Given the description of an element on the screen output the (x, y) to click on. 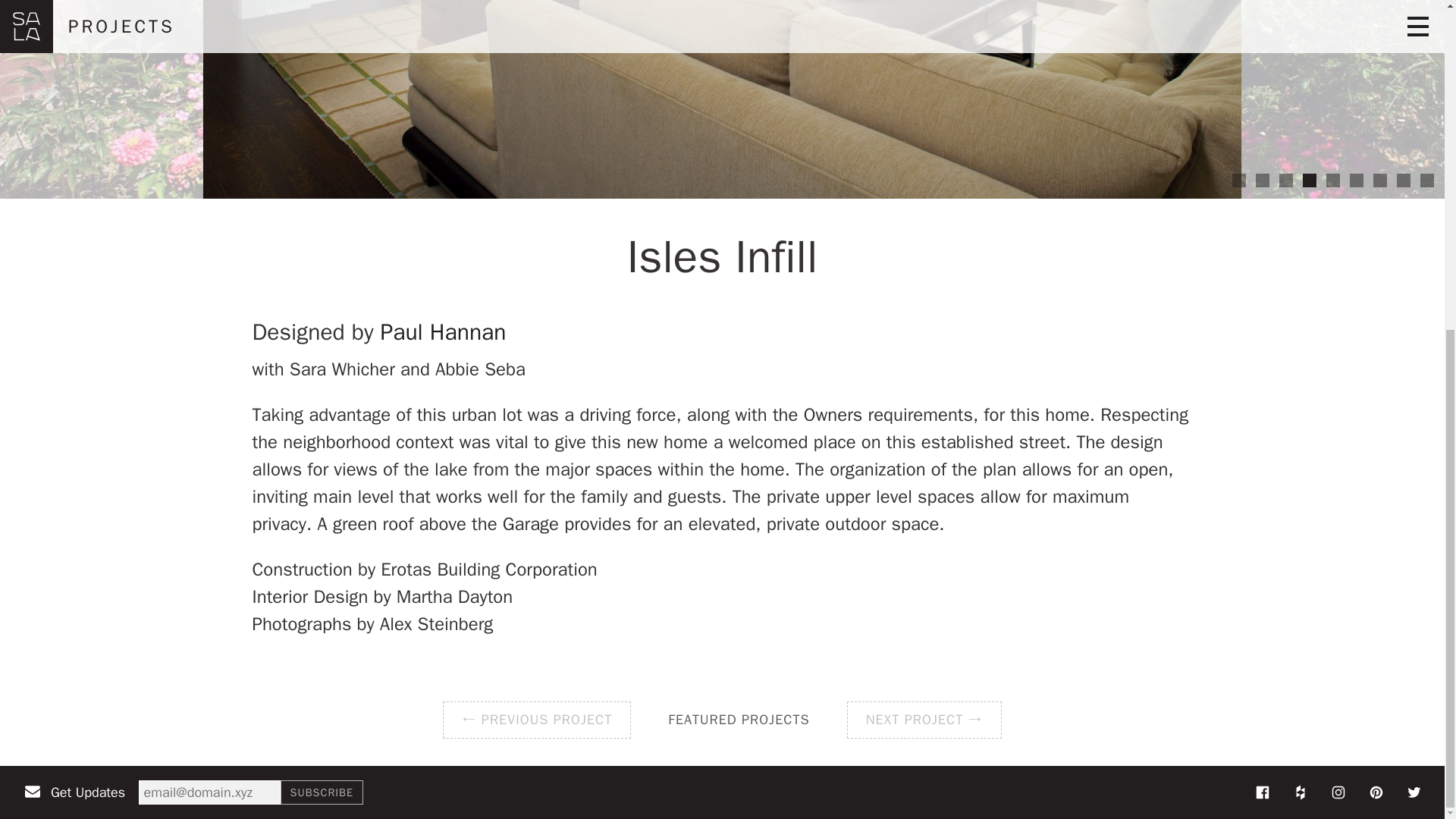
Houzz (1300, 792)
Twitter (1414, 792)
Subscribe (321, 792)
Paul Hannan (442, 331)
FEATURED PROJECTS (738, 719)
Subscribe (321, 792)
Facebook (1262, 792)
Instagram (1338, 792)
Pinterest (1376, 792)
